Given the description of an element on the screen output the (x, y) to click on. 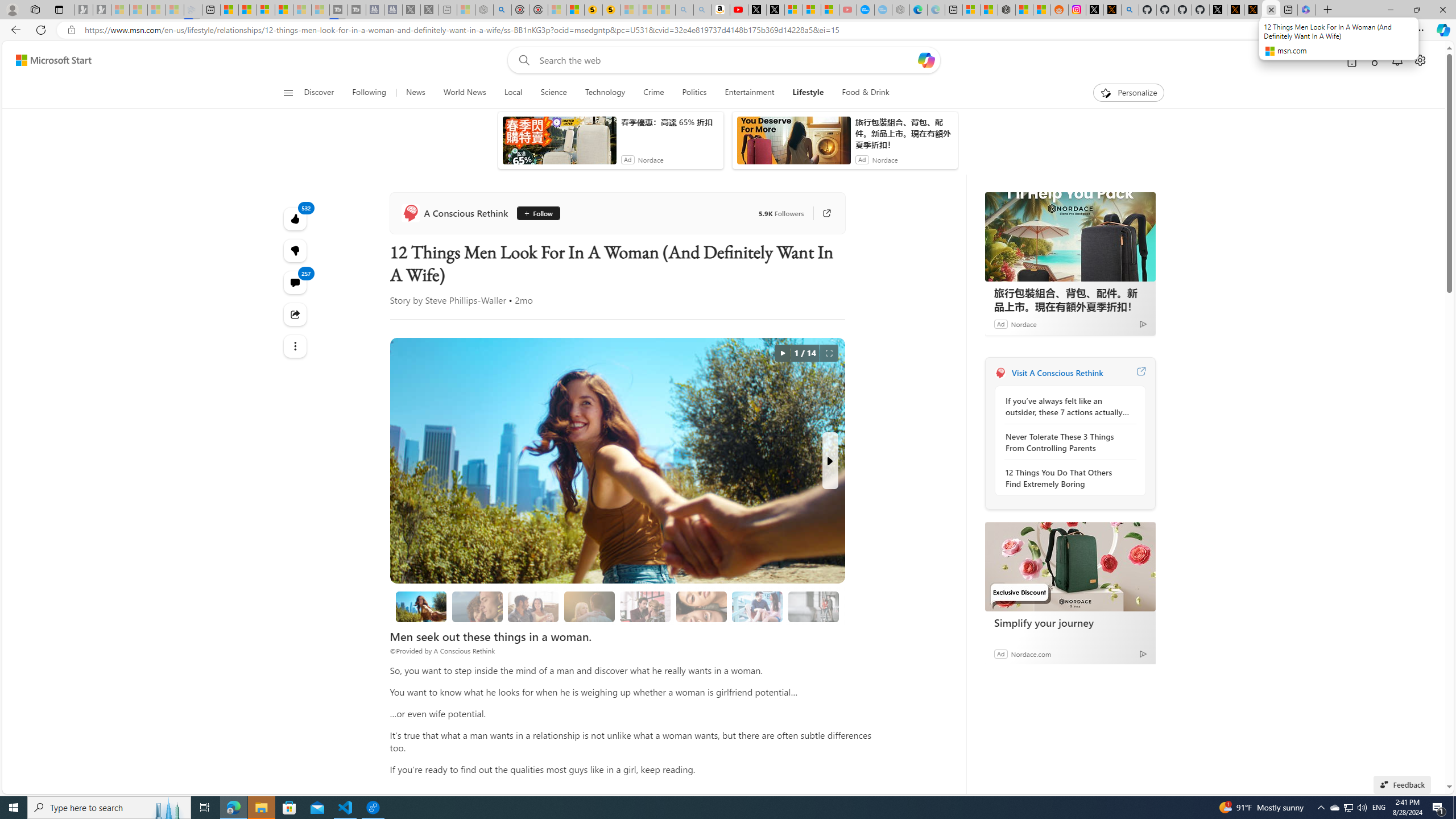
Food & Drink (860, 92)
Follow (538, 213)
Open settings (1420, 60)
Nordace - Duffels (1006, 9)
More like this532Fewer like thisView comments (295, 250)
3. People flirt with you and want your company. (756, 606)
Men seek out these things in a woman. (421, 606)
Nordace - Summer Adventures 2024 - Sleeping (483, 9)
5. She is independent. (700, 606)
Science (553, 92)
